Given the description of an element on the screen output the (x, y) to click on. 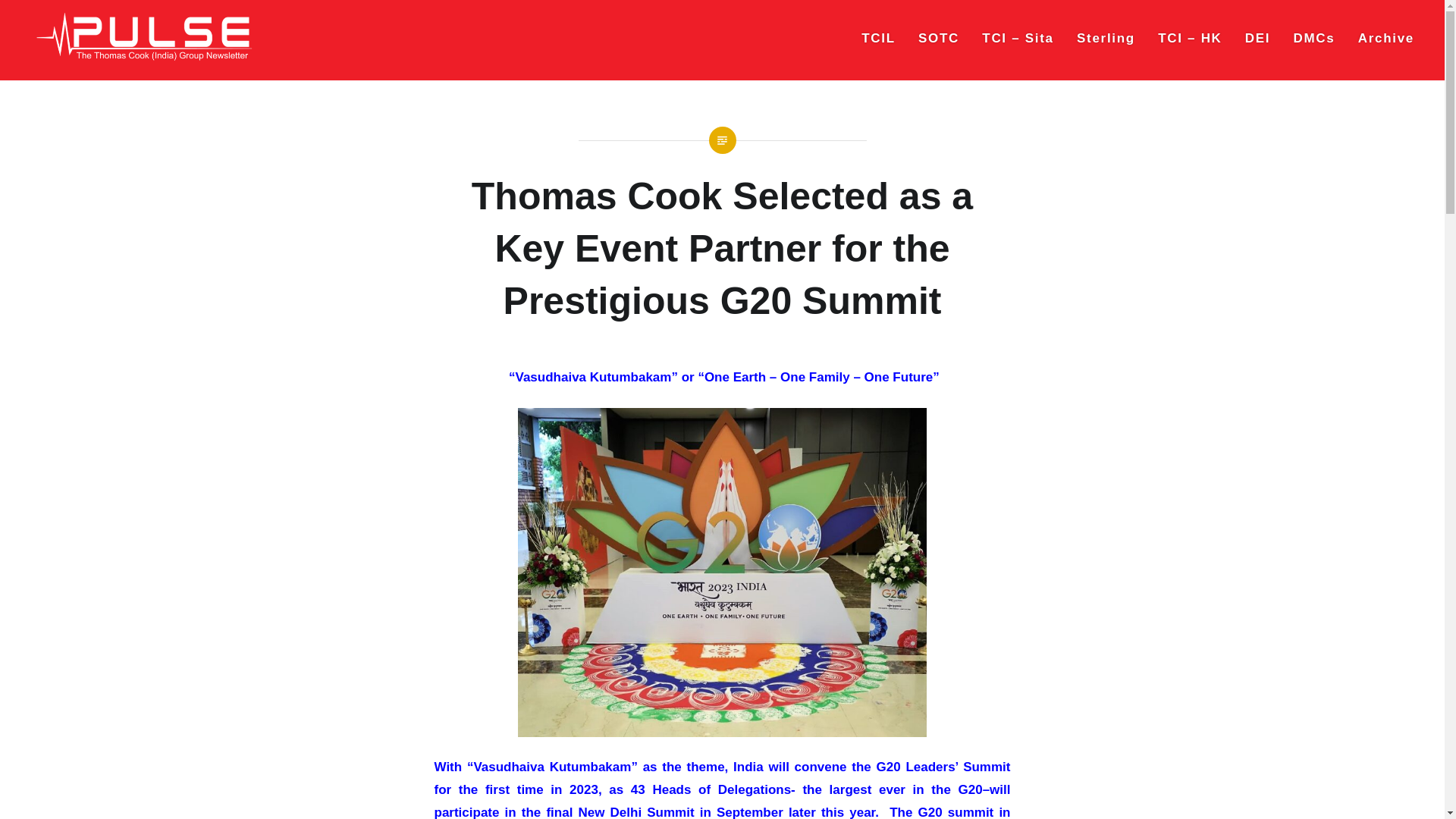
Sterling (1106, 38)
SOTC (938, 38)
DEI (1256, 38)
Archive (1385, 38)
TCIL (878, 38)
DMCs (1314, 38)
